Given the description of an element on the screen output the (x, y) to click on. 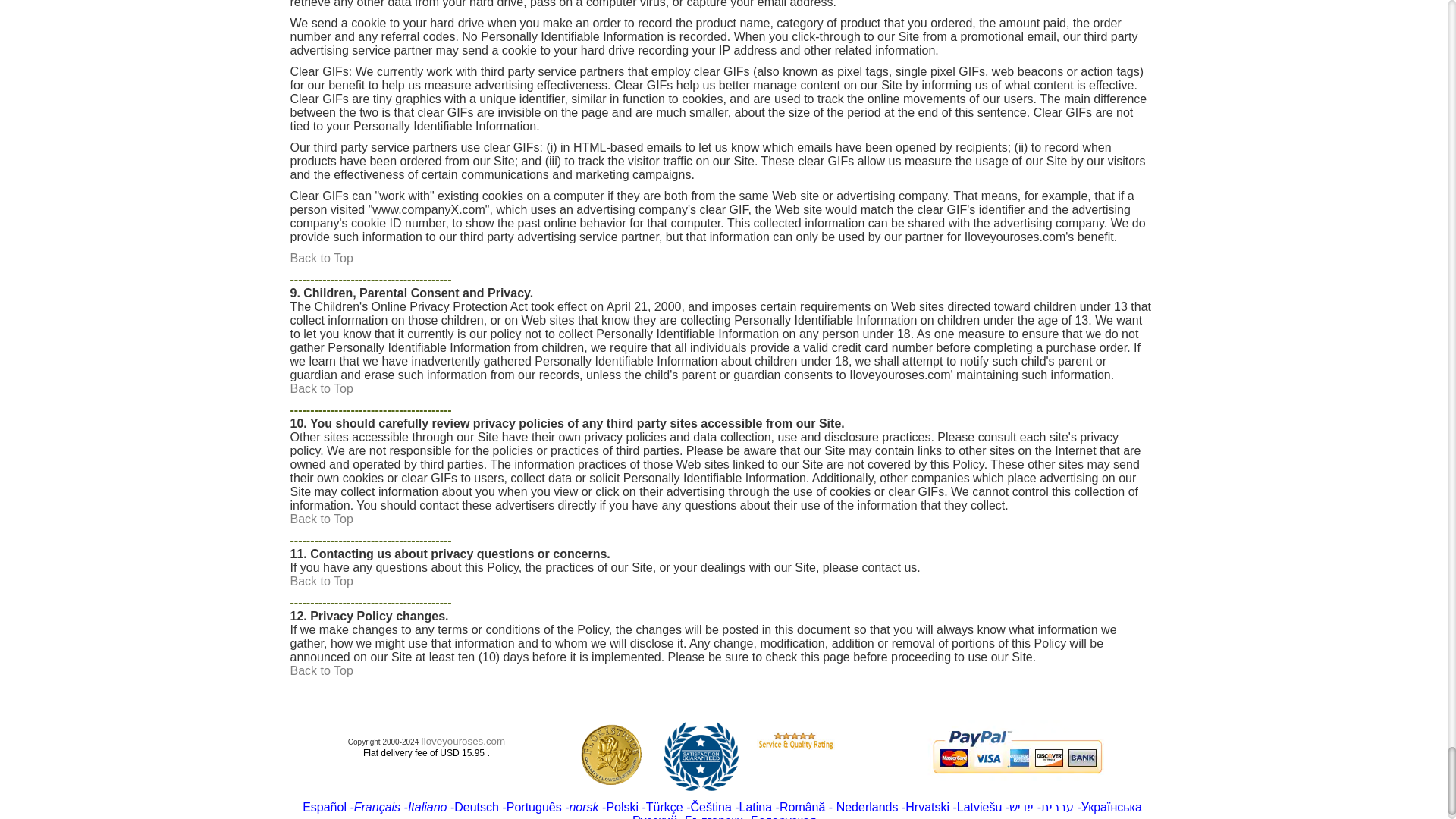
Belarusian (783, 816)
Dutch (866, 807)
Yiddish (1021, 807)
Russian (654, 816)
Turkish (664, 807)
German (476, 807)
 Hebrew (1057, 807)
Bulgarian (713, 816)
Latvian (979, 807)
Portuguese (534, 807)
French (376, 807)
Croatian (927, 807)
Polish (622, 807)
Czech (733, 807)
Romanian (803, 807)
